Given the description of an element on the screen output the (x, y) to click on. 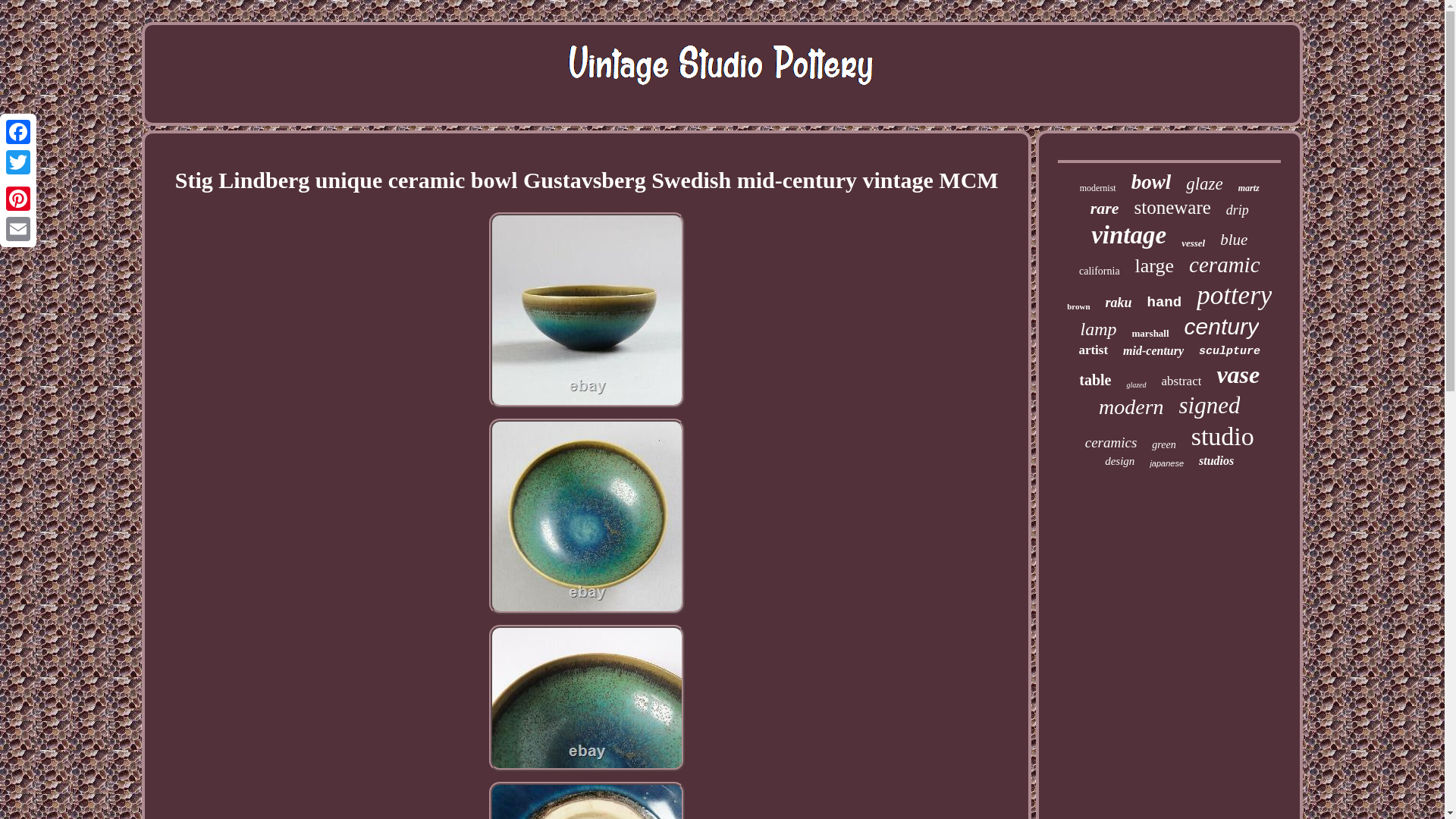
abstract (1181, 381)
marshall (1150, 333)
large (1154, 265)
glaze (1204, 184)
Facebook (17, 132)
rare (1104, 208)
pottery (1233, 295)
bowl (1151, 182)
